Given the description of an element on the screen output the (x, y) to click on. 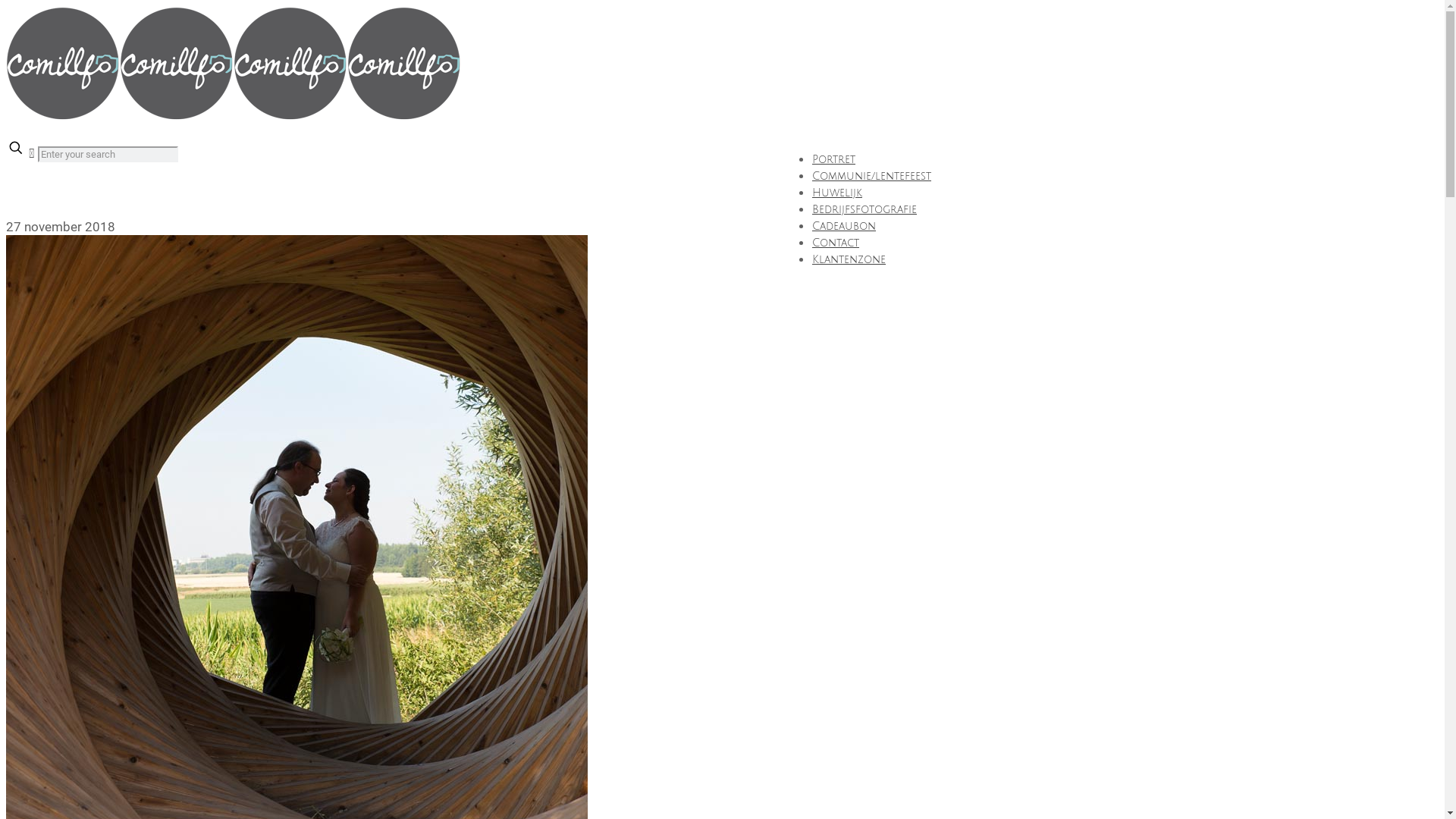
Contact Element type: text (835, 242)
Comillfo Element type: hover (233, 115)
Klantenzone Element type: text (848, 259)
Bedrijfsfotografie Element type: text (864, 209)
Portret Element type: text (833, 159)
Huwelijk Element type: text (837, 192)
Communie/lentefeest Element type: text (871, 175)
Cadeaubon Element type: text (843, 225)
